Given the description of an element on the screen output the (x, y) to click on. 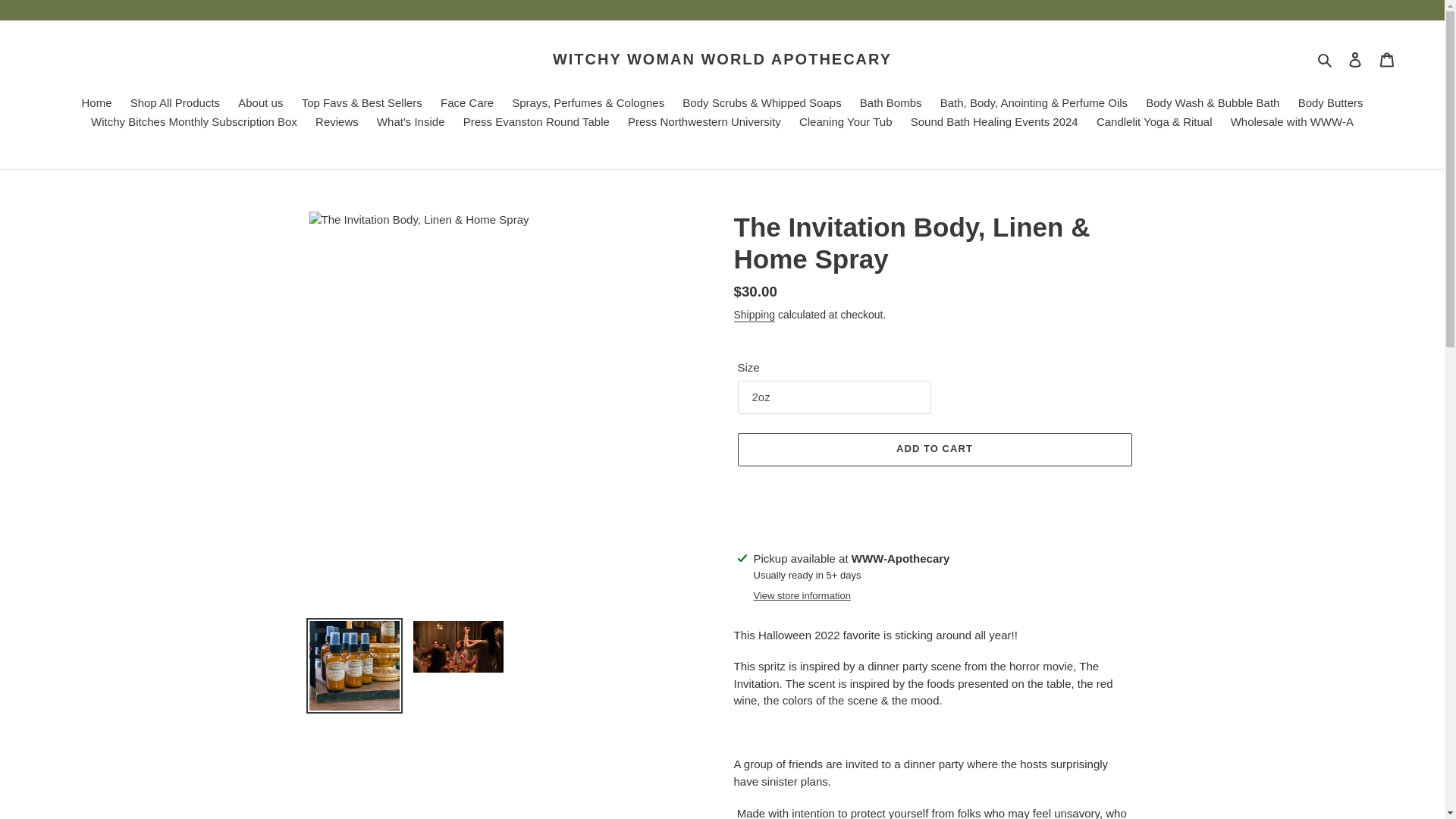
Search (1326, 58)
Log in (1355, 59)
Cart (1387, 59)
Home (96, 103)
Shop All Products (174, 103)
WITCHY WOMAN WORLD APOTHECARY (722, 58)
Bath Bombs (890, 103)
Face Care (466, 103)
About us (259, 103)
